Given the description of an element on the screen output the (x, y) to click on. 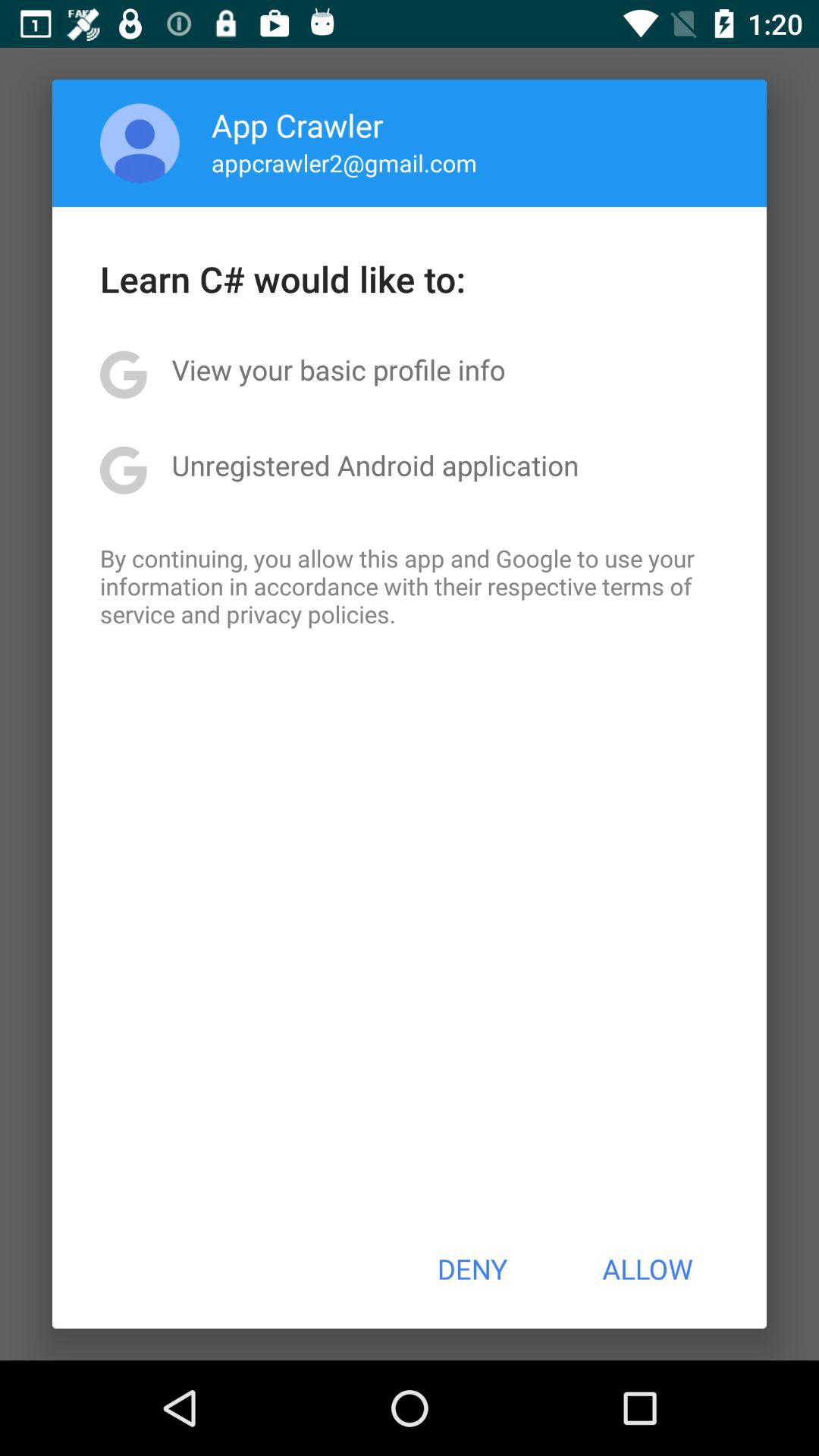
press the unregistered android application icon (374, 465)
